Given the description of an element on the screen output the (x, y) to click on. 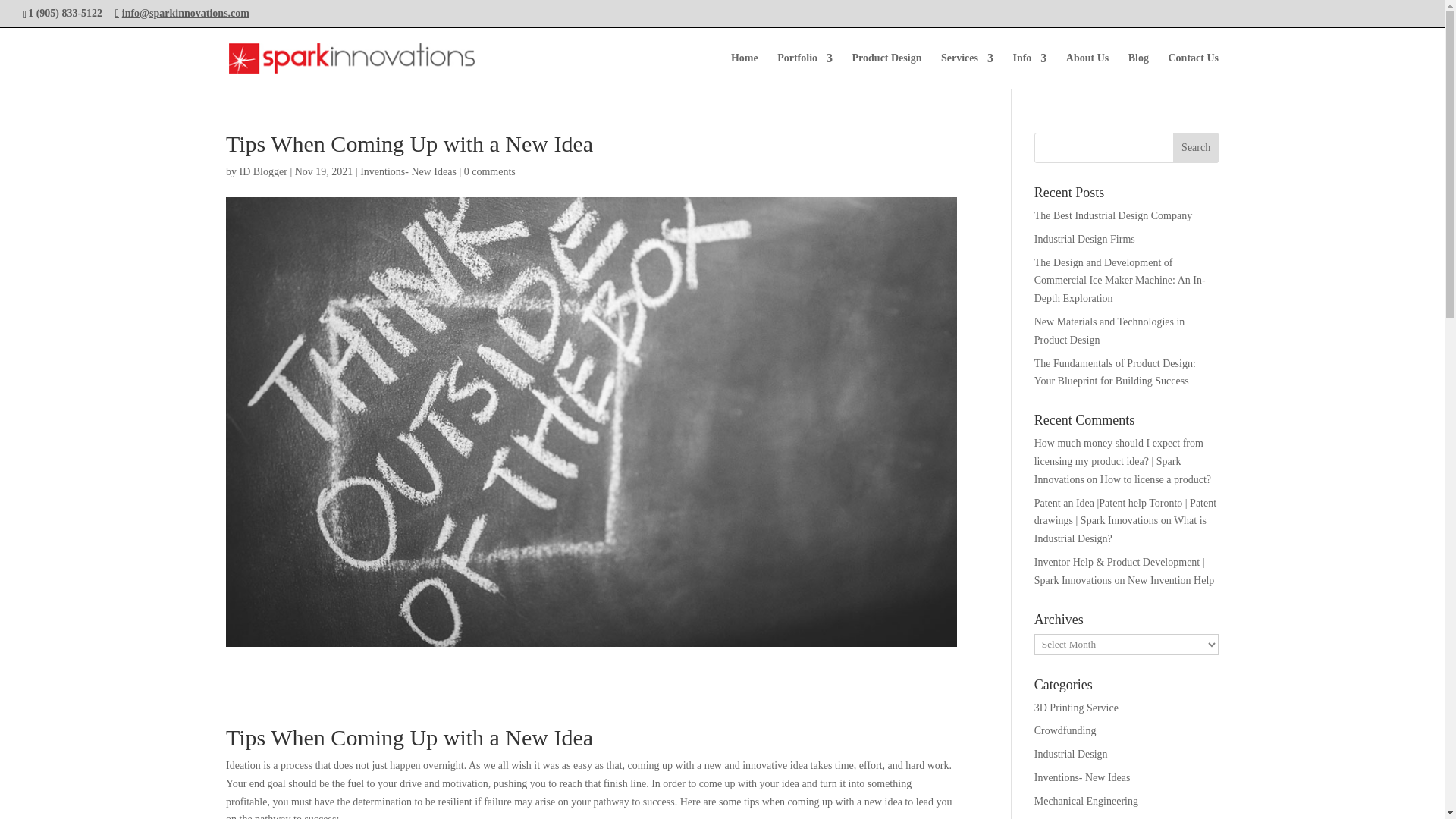
Contact Us (1192, 70)
Search (1195, 147)
Services (966, 70)
About Us (1086, 70)
Portfolio (804, 70)
Product Design (886, 70)
Posts by ID Blogger (263, 171)
Info (1028, 70)
